Given the description of an element on the screen output the (x, y) to click on. 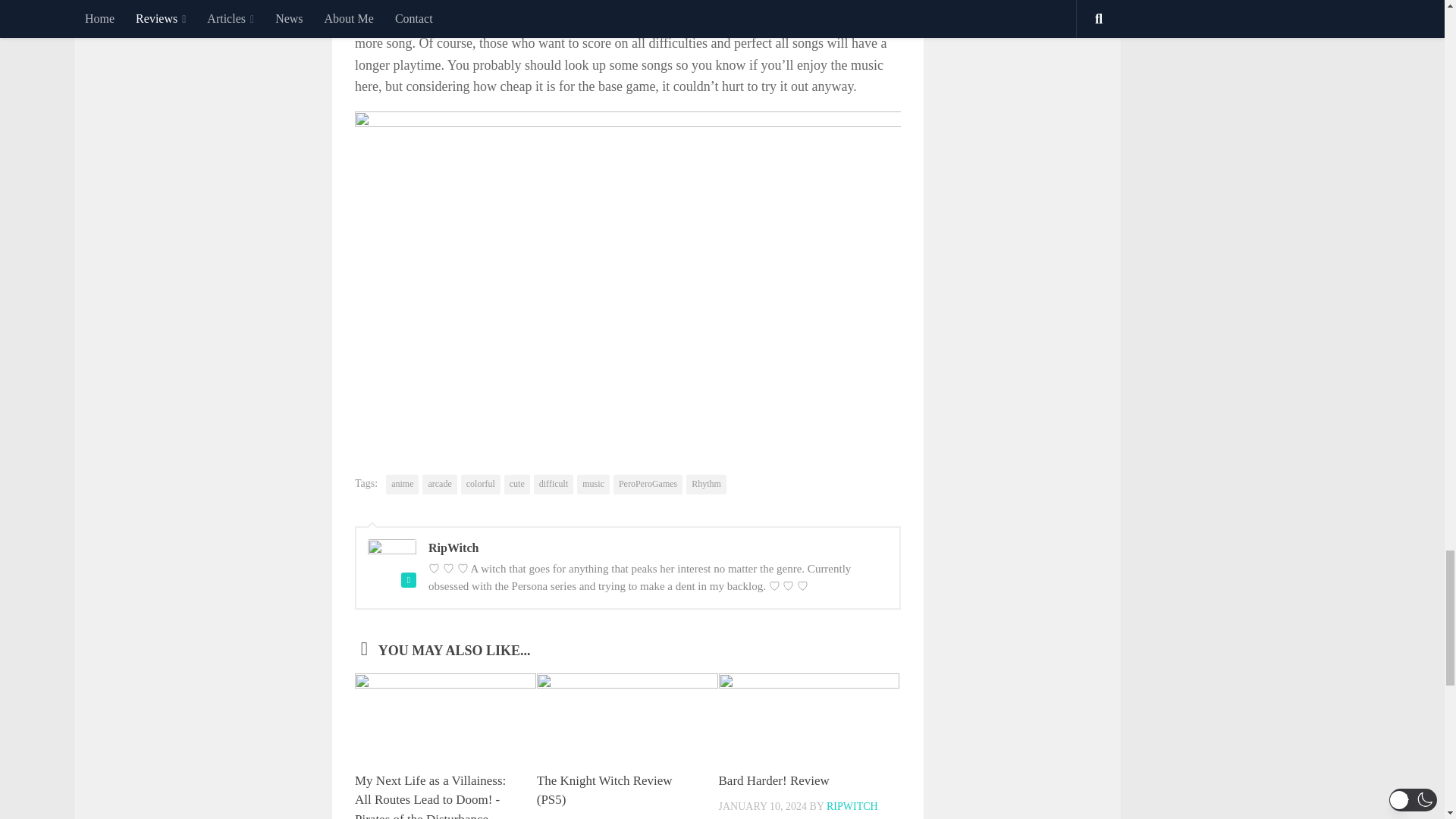
Posts by RipWitch (852, 806)
